Given the description of an element on the screen output the (x, y) to click on. 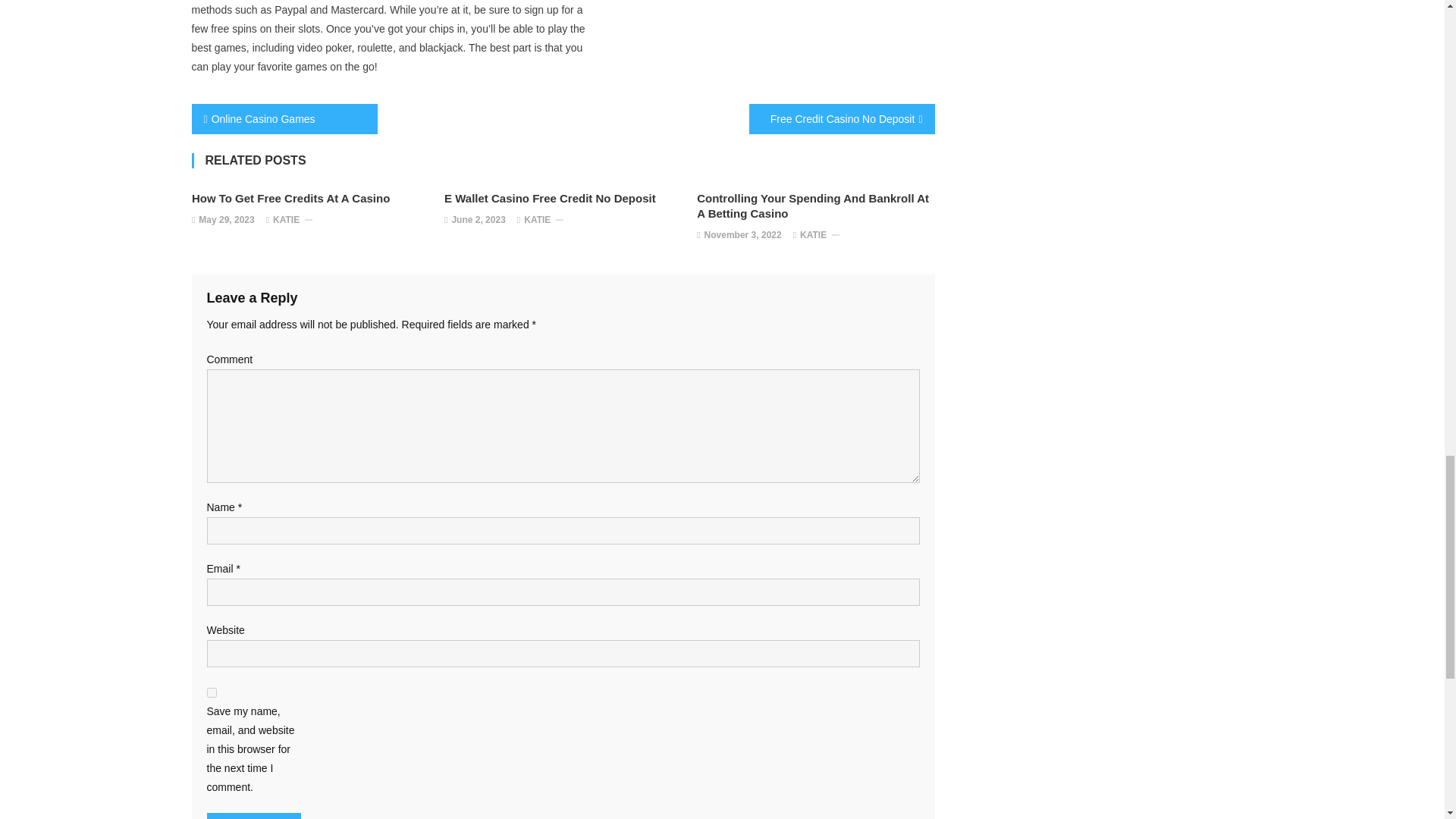
How To Get Free Credits At A Casino (310, 198)
May 29, 2023 (225, 220)
Free Credit Casino No Deposit (841, 118)
November 3, 2022 (742, 235)
Online Casino Games (283, 118)
June 2, 2023 (478, 220)
Controlling Your Spending And Bankroll At A Betting Casino (815, 205)
Post Comment (253, 816)
KATIE (286, 220)
E Wallet Casino Free Credit No Deposit (562, 198)
